Given the description of an element on the screen output the (x, y) to click on. 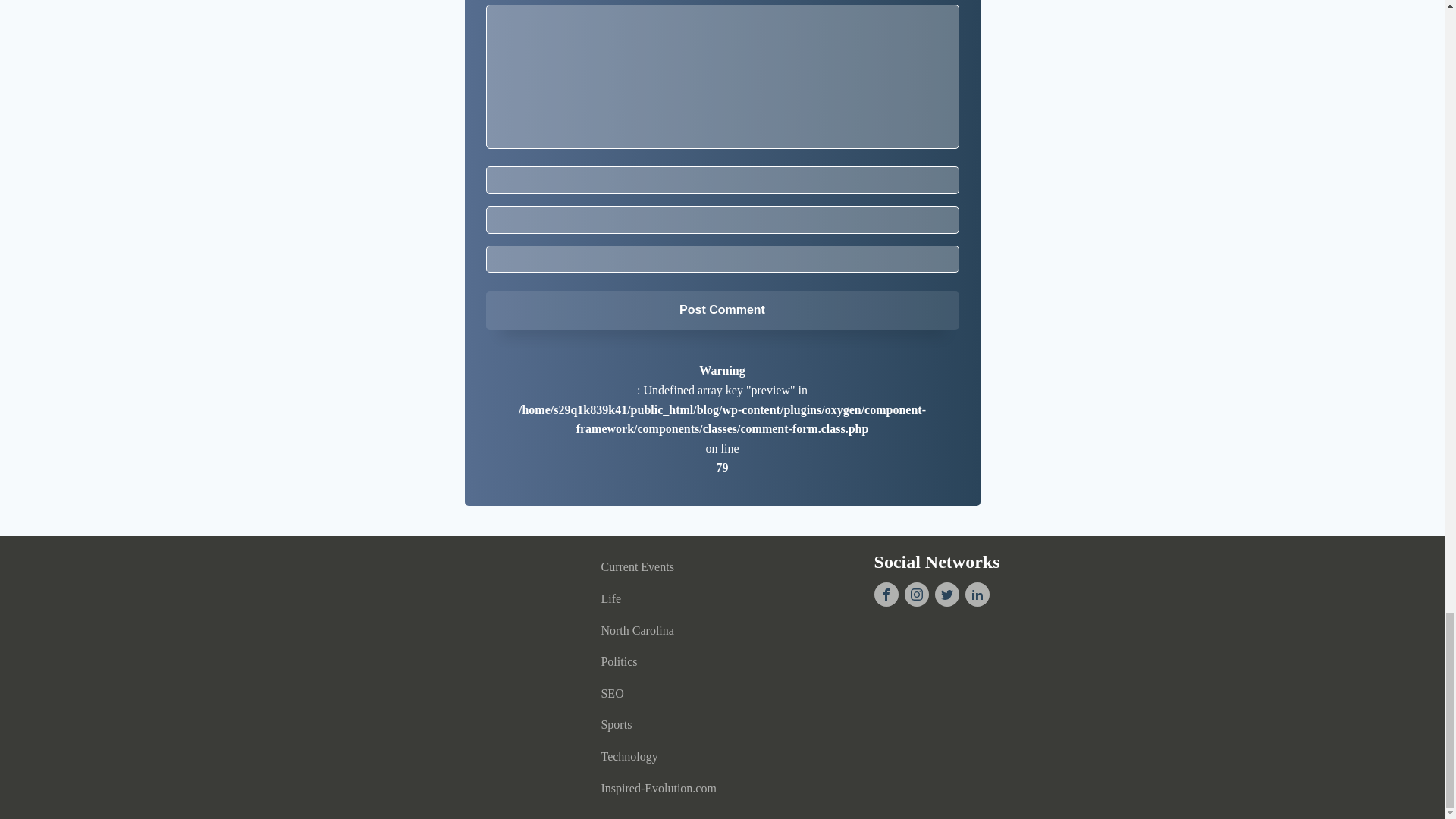
Current Events (657, 567)
Life (657, 599)
Post Comment (721, 310)
Sports (657, 725)
Inspired-Evolution.com (657, 788)
Politics (657, 662)
Post Comment (721, 310)
Technology (657, 757)
SEO (657, 694)
North Carolina (657, 631)
